Given the description of an element on the screen output the (x, y) to click on. 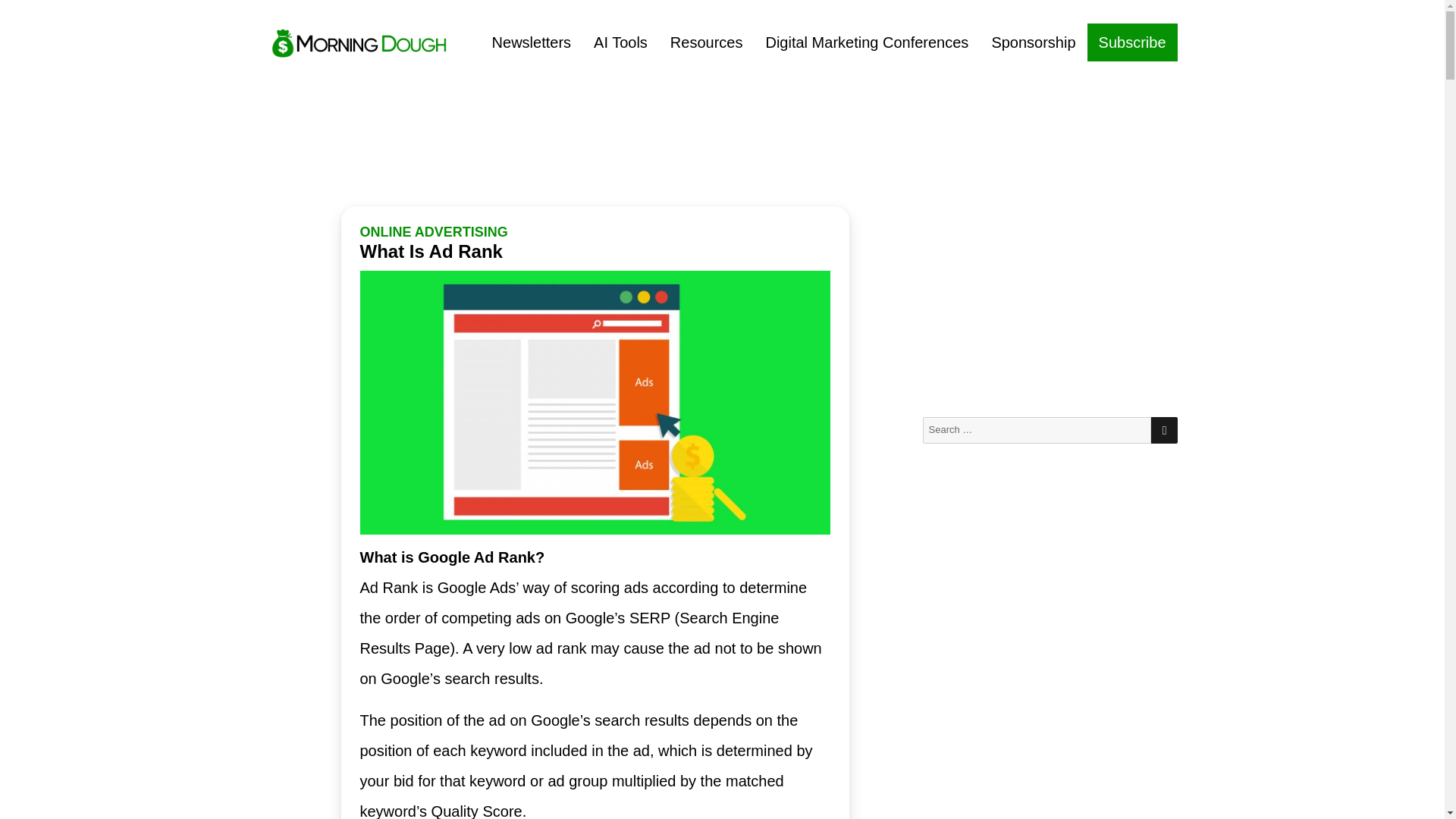
Subscribe (1132, 42)
Digital Marketing Conferences (866, 42)
Sponsorship (1032, 42)
Newsletters (531, 42)
AI Tools (620, 42)
Resources (706, 42)
